Given the description of an element on the screen output the (x, y) to click on. 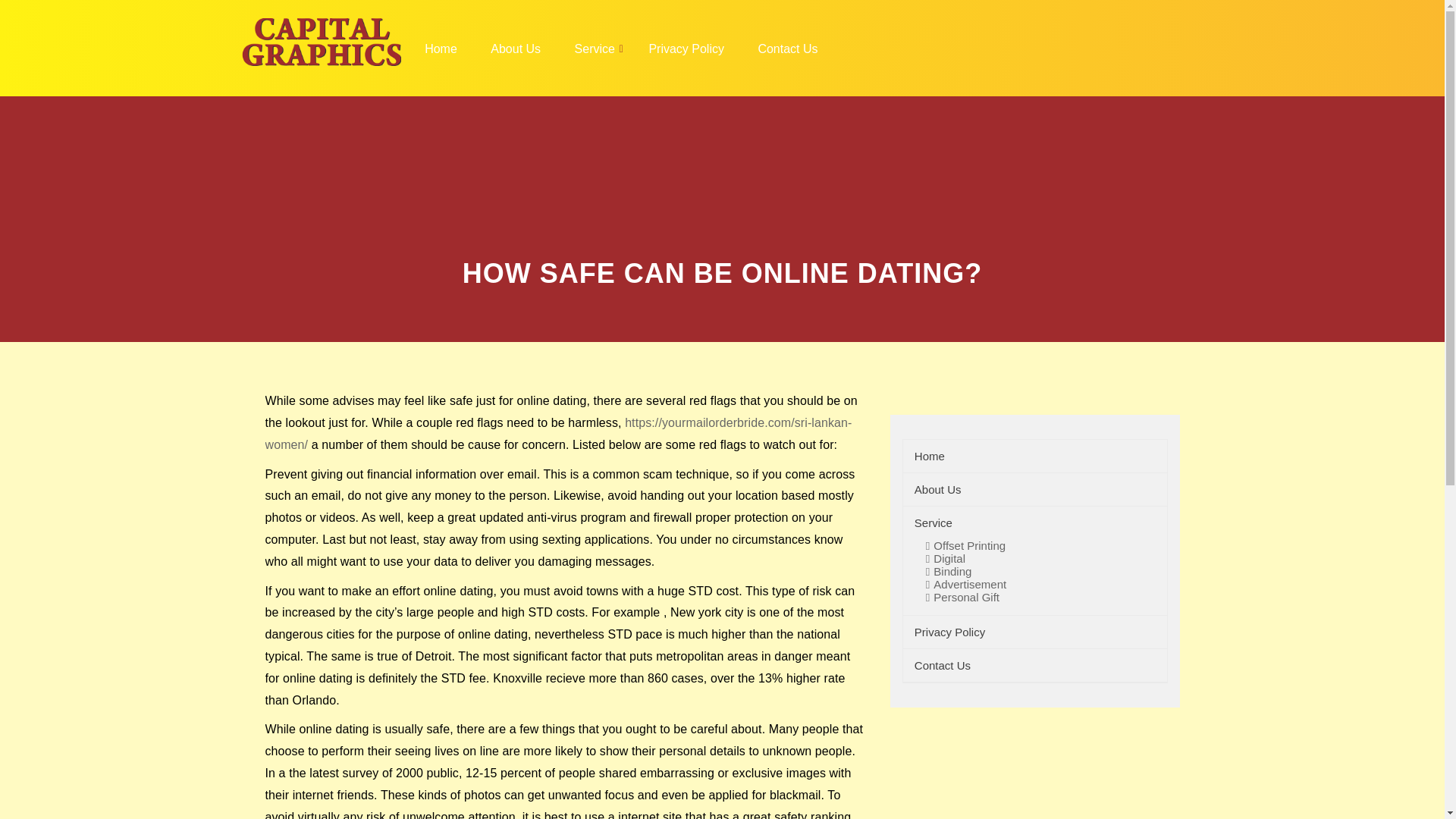
Home (440, 47)
About Us (515, 47)
Offset Printing (963, 545)
Advertisement (963, 584)
Privacy Policy (686, 47)
Privacy Policy (949, 631)
Digital (943, 558)
Contact Us (942, 665)
Service (594, 47)
Home (929, 455)
